Given the description of an element on the screen output the (x, y) to click on. 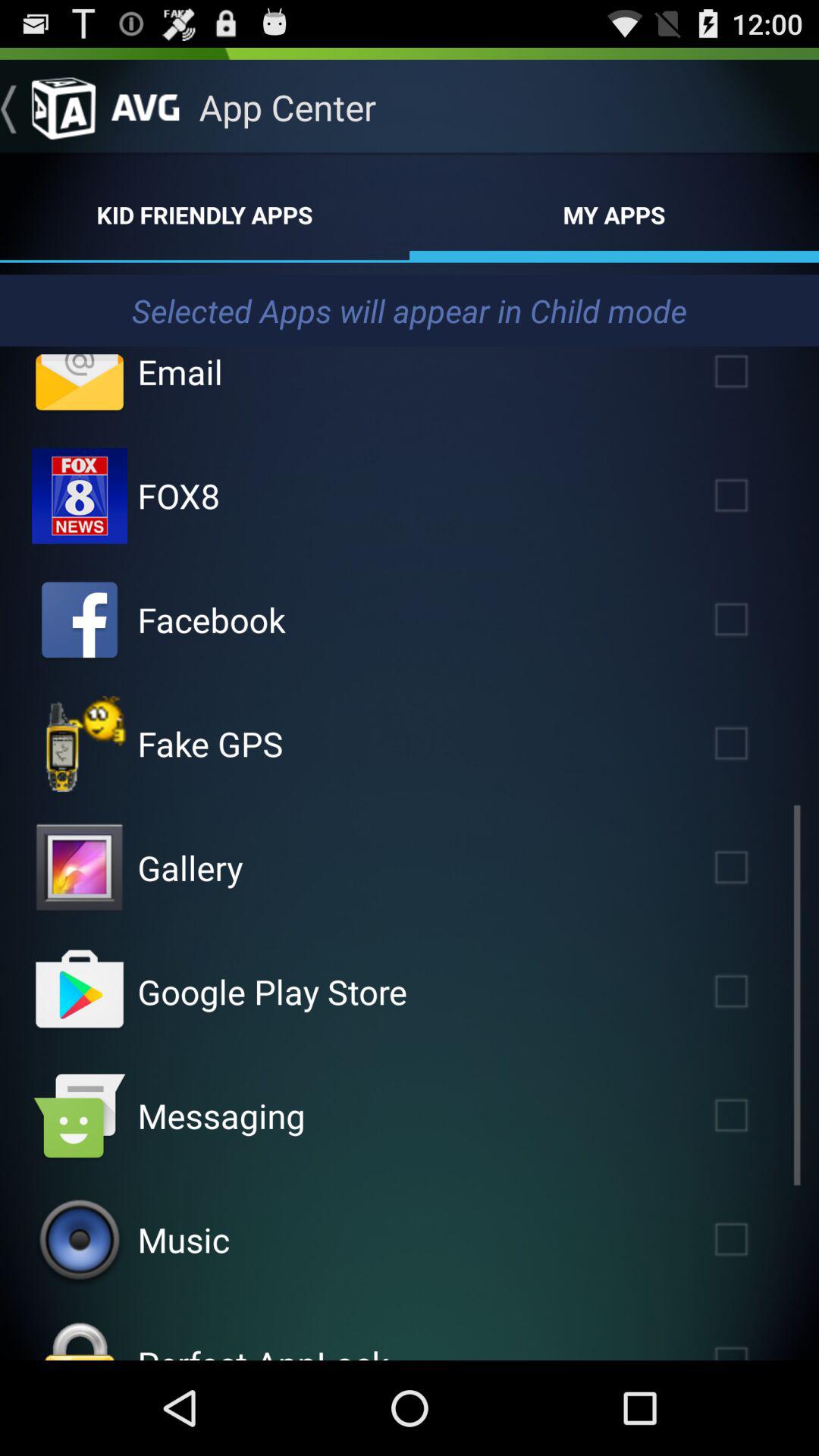
select facebook child mode (79, 619)
